Given the description of an element on the screen output the (x, y) to click on. 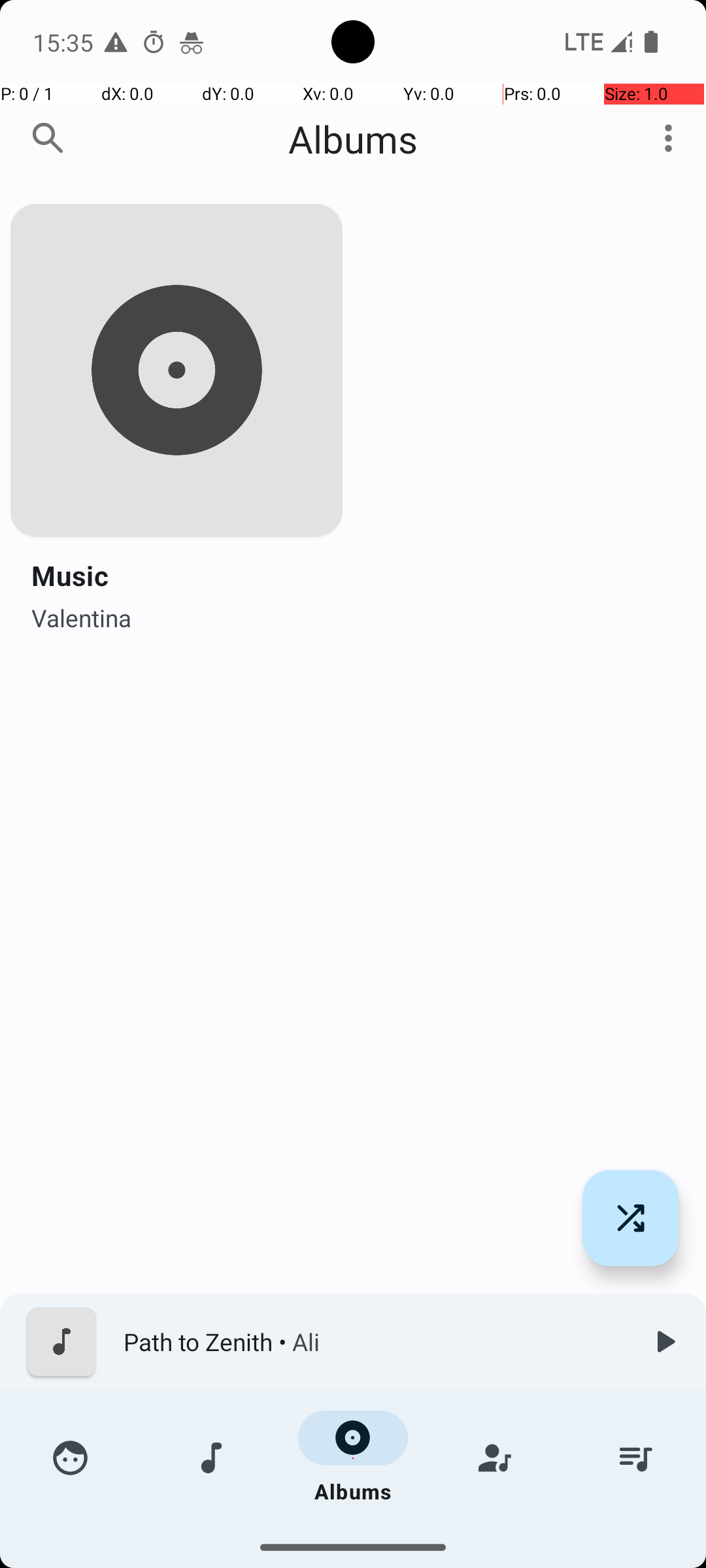
Path to Zenith • Ali Element type: android.widget.TextView (372, 1341)
Music Element type: android.widget.TextView (69, 574)
Valentina Element type: android.widget.TextView (81, 613)
